Given the description of an element on the screen output the (x, y) to click on. 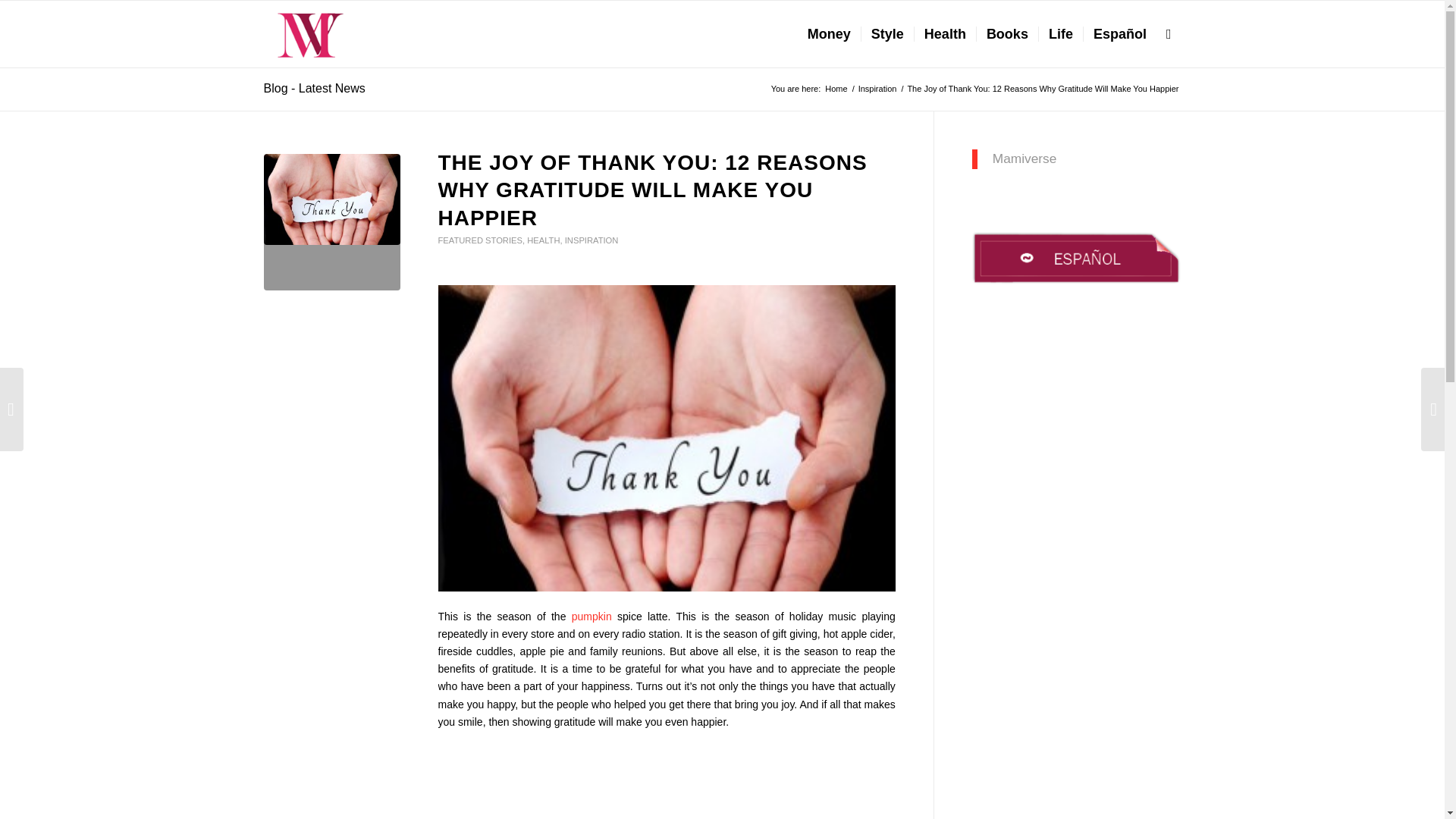
Mamiverse (835, 89)
3rd party ad content (666, 779)
INSPIRATION (591, 239)
HEALTH (543, 239)
FEATURED STORIES (480, 239)
Permanent Link: Blog - Latest News (314, 88)
Inspiration (877, 89)
Books (1006, 33)
